Given the description of an element on the screen output the (x, y) to click on. 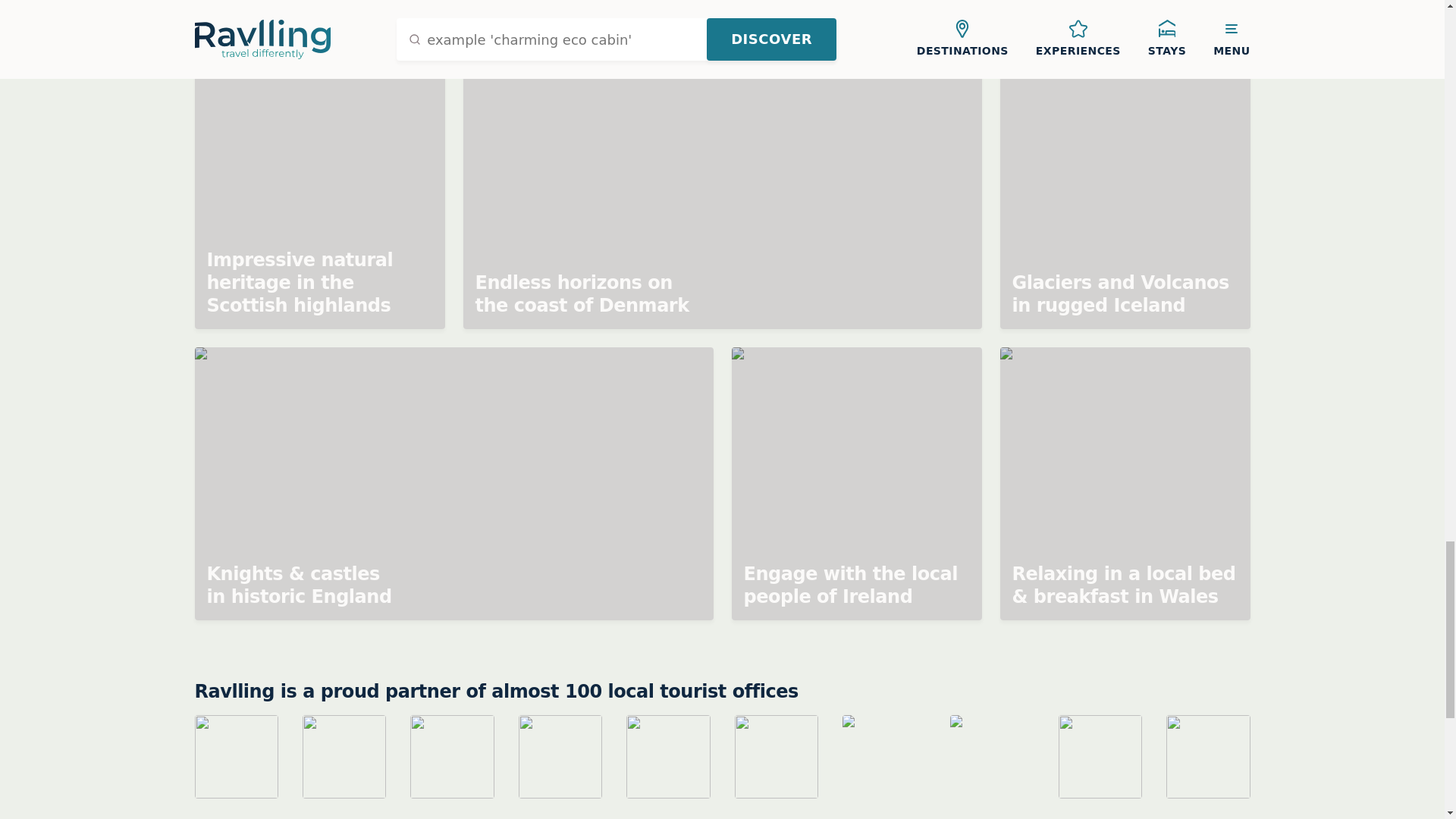
Stunning Fjords of Norway (989, 18)
Impressive natural heritage in the Scottish highlands (318, 192)
Unique cabins in outdoor Sweden (588, 18)
Engage with the local people of Ireland (855, 483)
Glaciers and Volcanos in rugged Iceland (1123, 192)
